Given the description of an element on the screen output the (x, y) to click on. 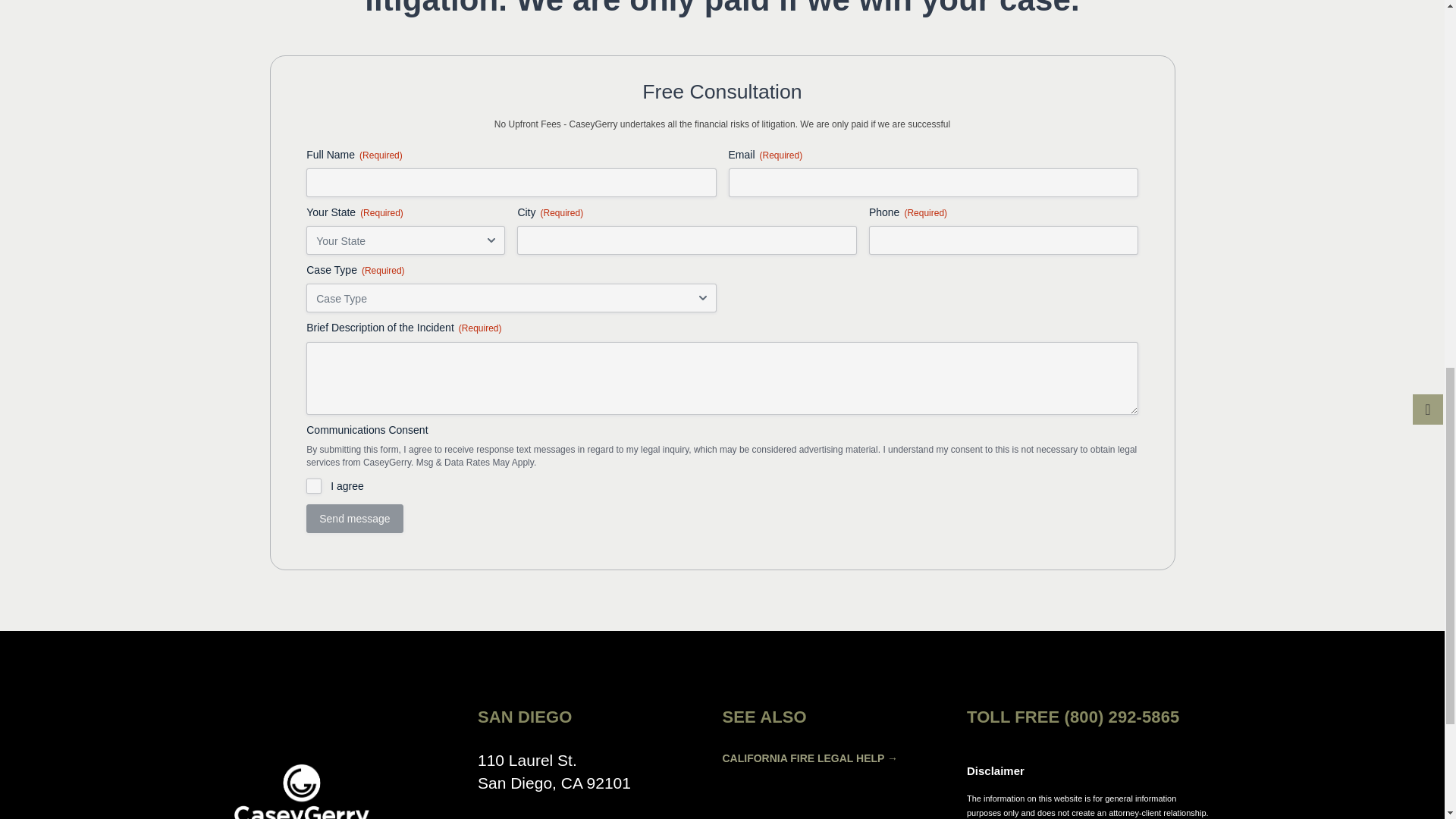
I agree (313, 485)
Send message (354, 518)
